Given the description of an element on the screen output the (x, y) to click on. 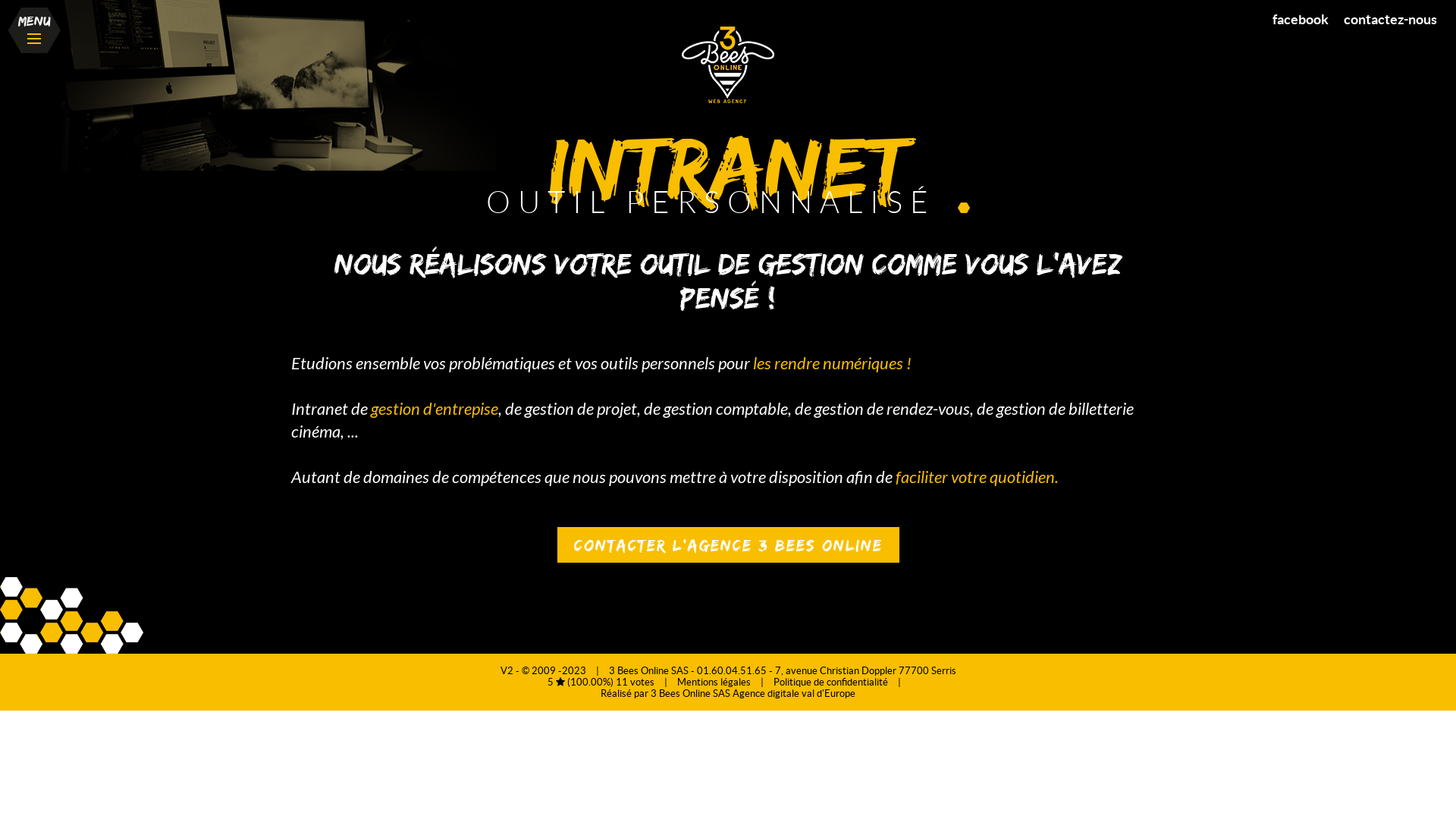
contactez-nous Element type: text (1390, 19)
CONTACTER L'AGENCE 3 BEES ONLINE Element type: text (727, 544)
Menu Element type: text (33, 30)
facebook Element type: text (1300, 19)
(100.00%) Element type: text (584, 681)
Agence digitale val d'Europe Element type: text (793, 693)
